Given the description of an element on the screen output the (x, y) to click on. 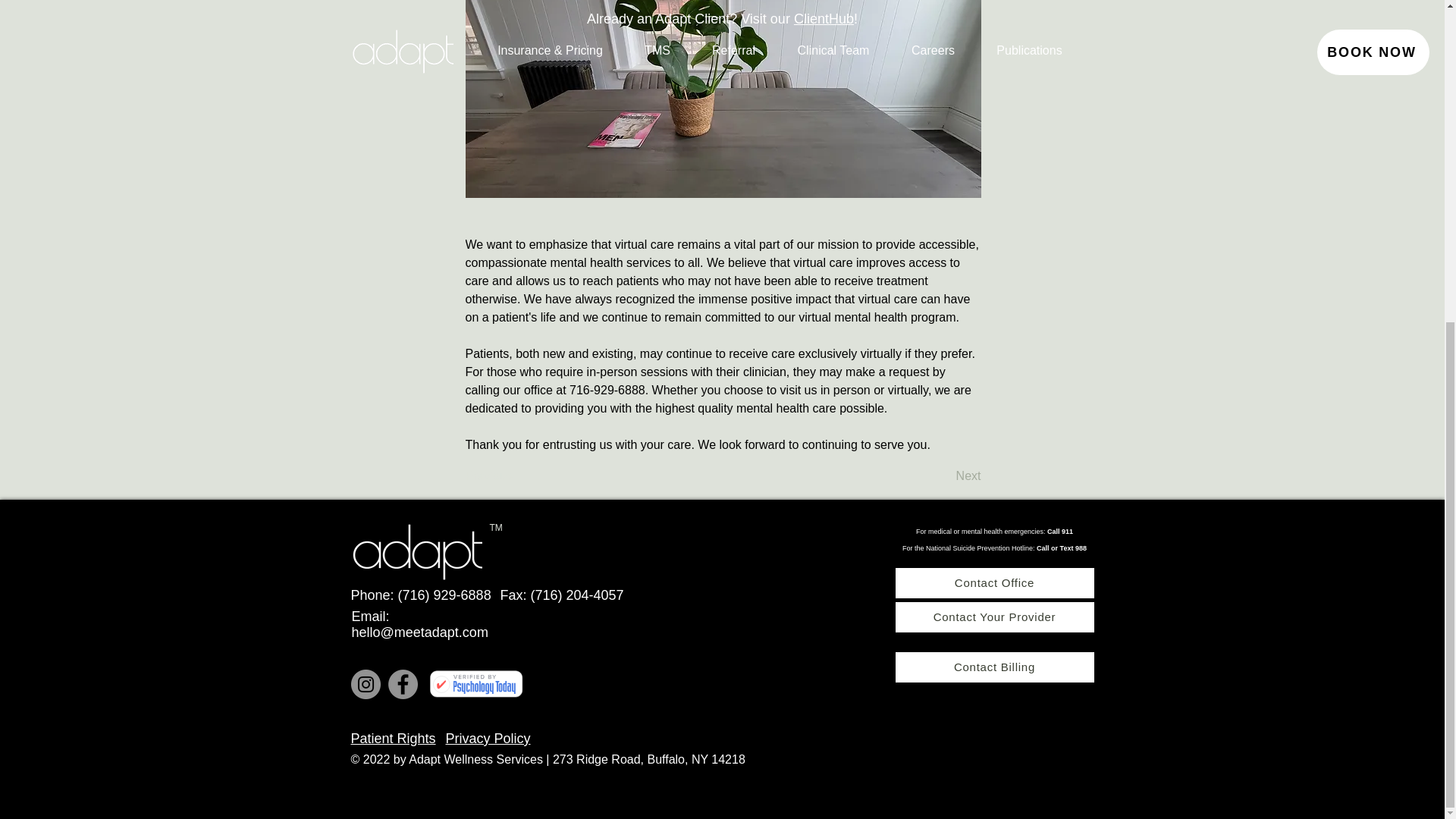
Privacy Policy (488, 738)
716-929-6888 (607, 390)
Contact Your Provider (994, 616)
Adapt Psychiatry Logo (415, 547)
Patient Rights (392, 738)
Next (943, 476)
Contact Office (994, 583)
Contact Billing (994, 666)
Previous (515, 476)
